Given the description of an element on the screen output the (x, y) to click on. 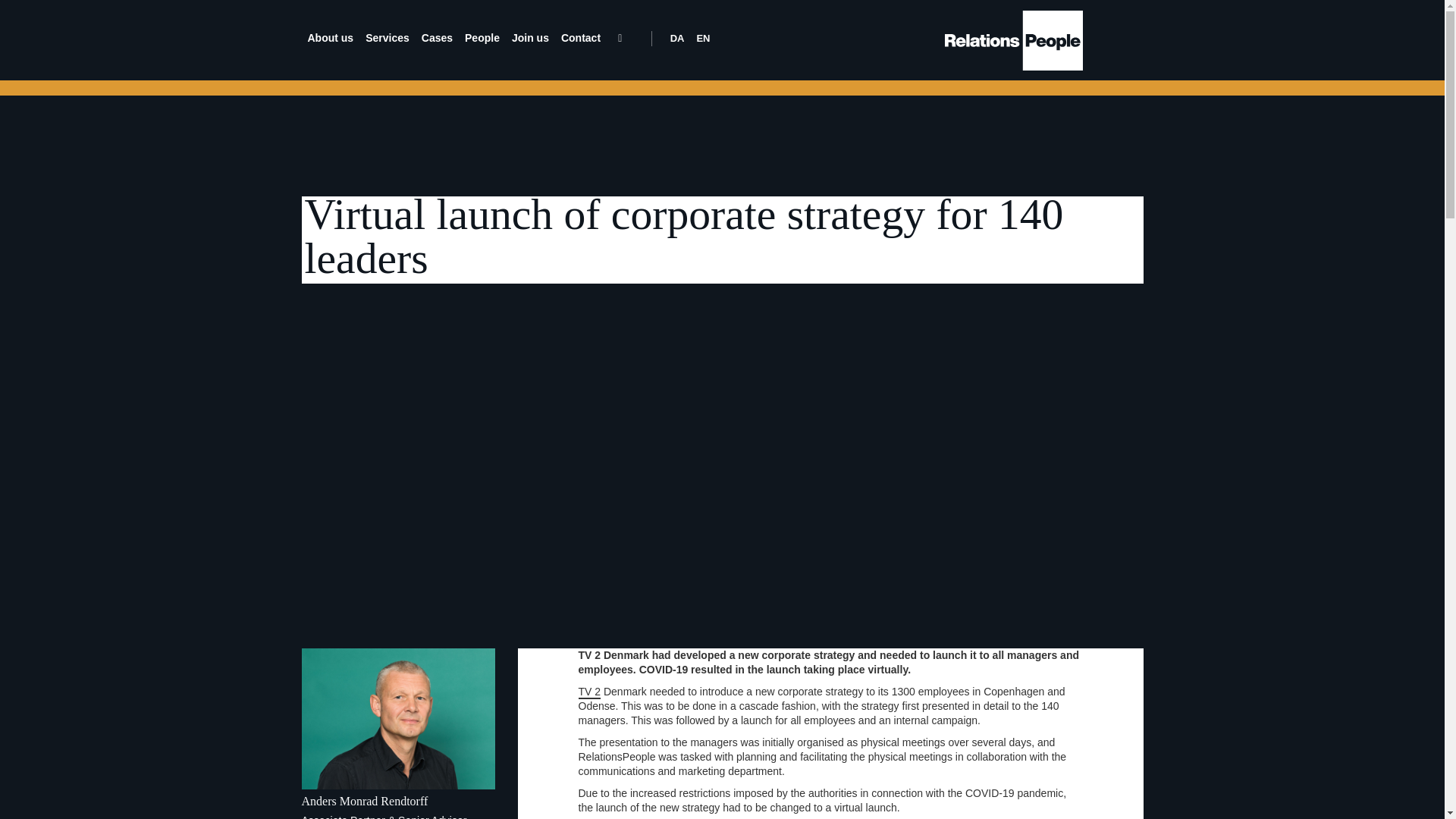
Services (386, 38)
Contact (580, 38)
EN (703, 38)
About us (330, 38)
About us (330, 38)
English (703, 38)
DA (676, 38)
Contact (580, 38)
Services (386, 38)
Cases (436, 38)
